Given the description of an element on the screen output the (x, y) to click on. 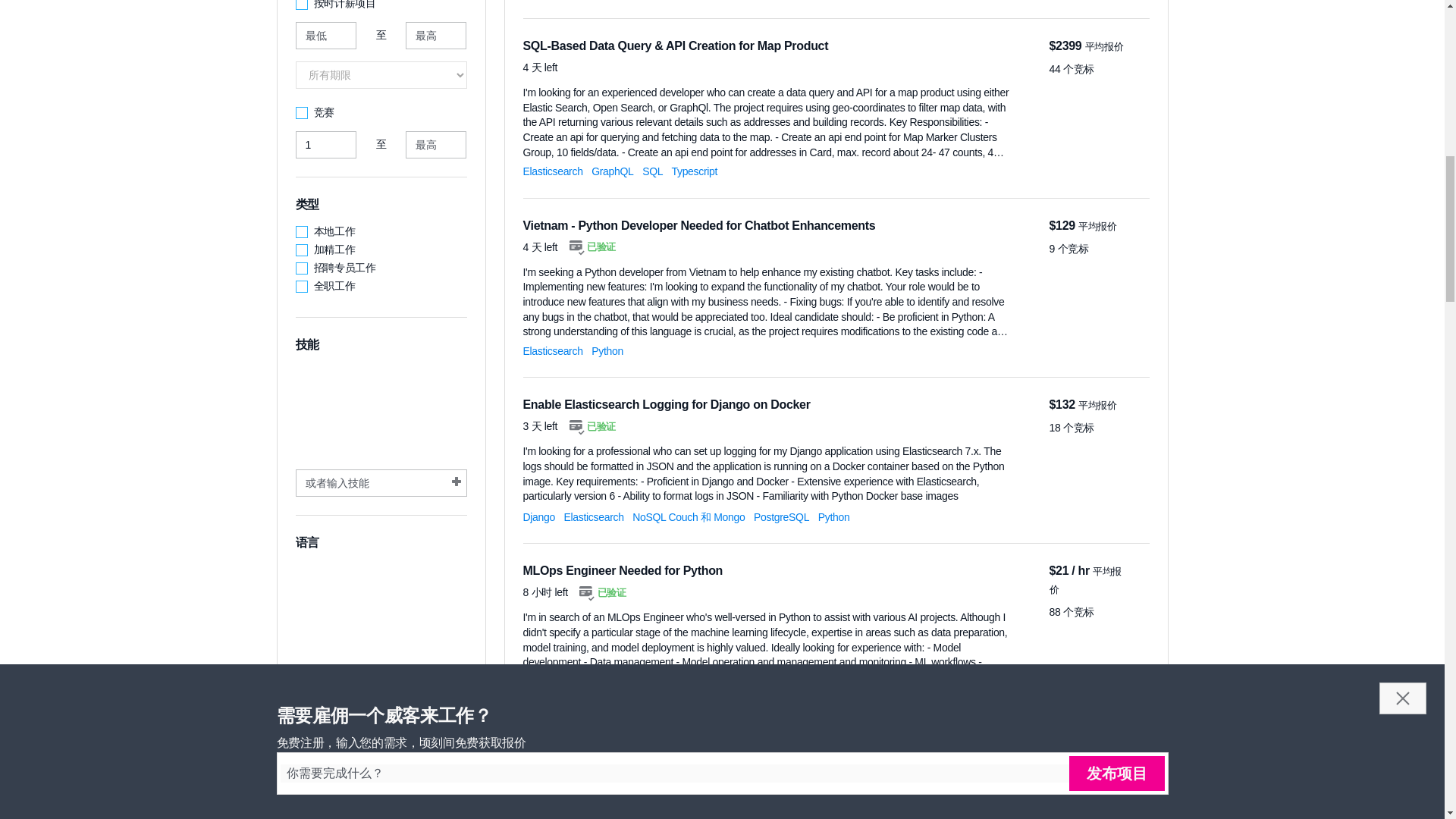
GraphQL (612, 171)
Typescript (694, 171)
Vietnam - Python Developer Needed for Chatbot Enhancements (699, 225)
Elasticsearch (552, 350)
SQL (652, 171)
Enable Elasticsearch Logging for Django on Docker (666, 404)
Elasticsearch (552, 171)
1 (325, 144)
Python (607, 350)
